Given the description of an element on the screen output the (x, y) to click on. 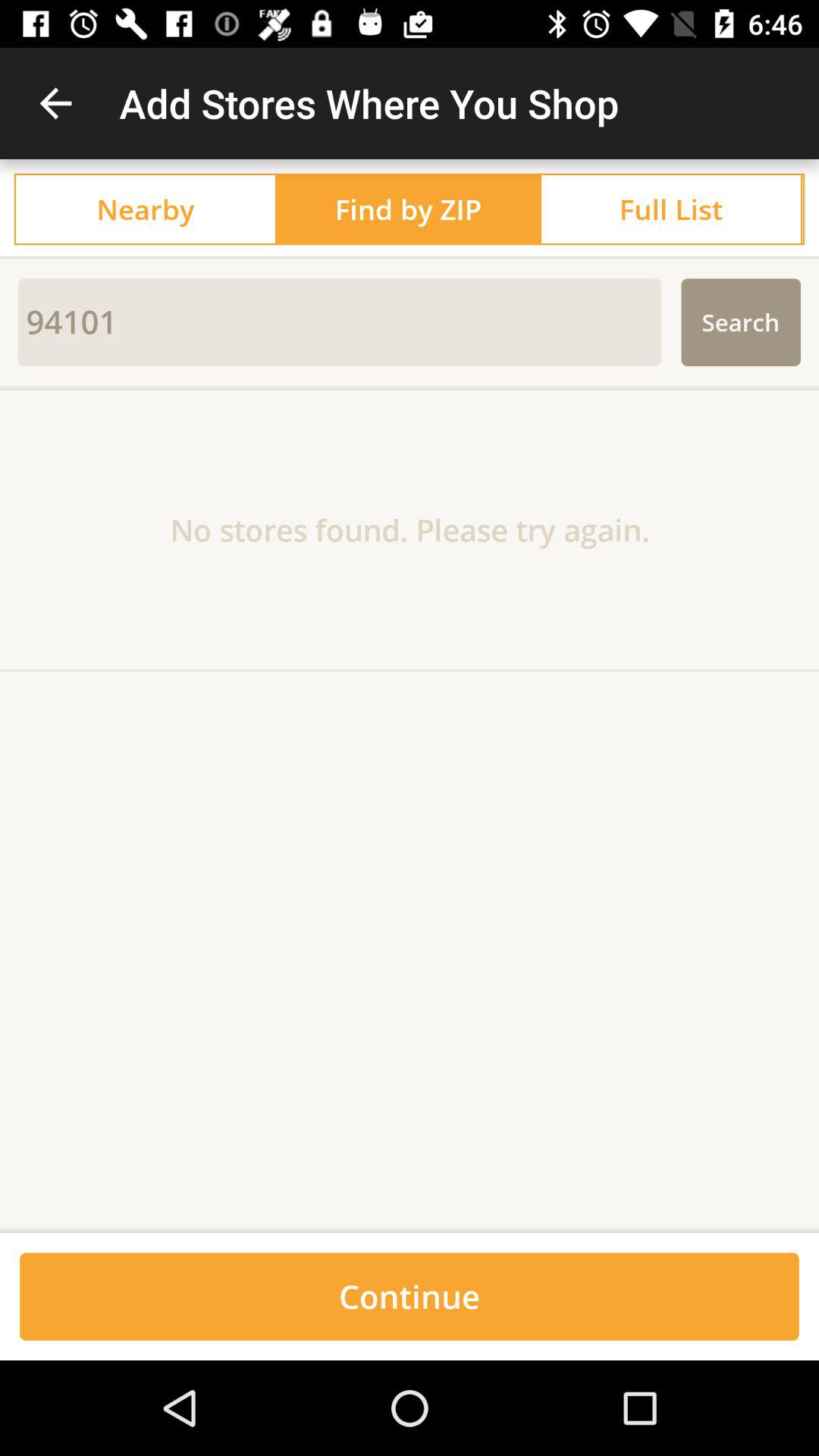
click the search item (740, 321)
